Given the description of an element on the screen output the (x, y) to click on. 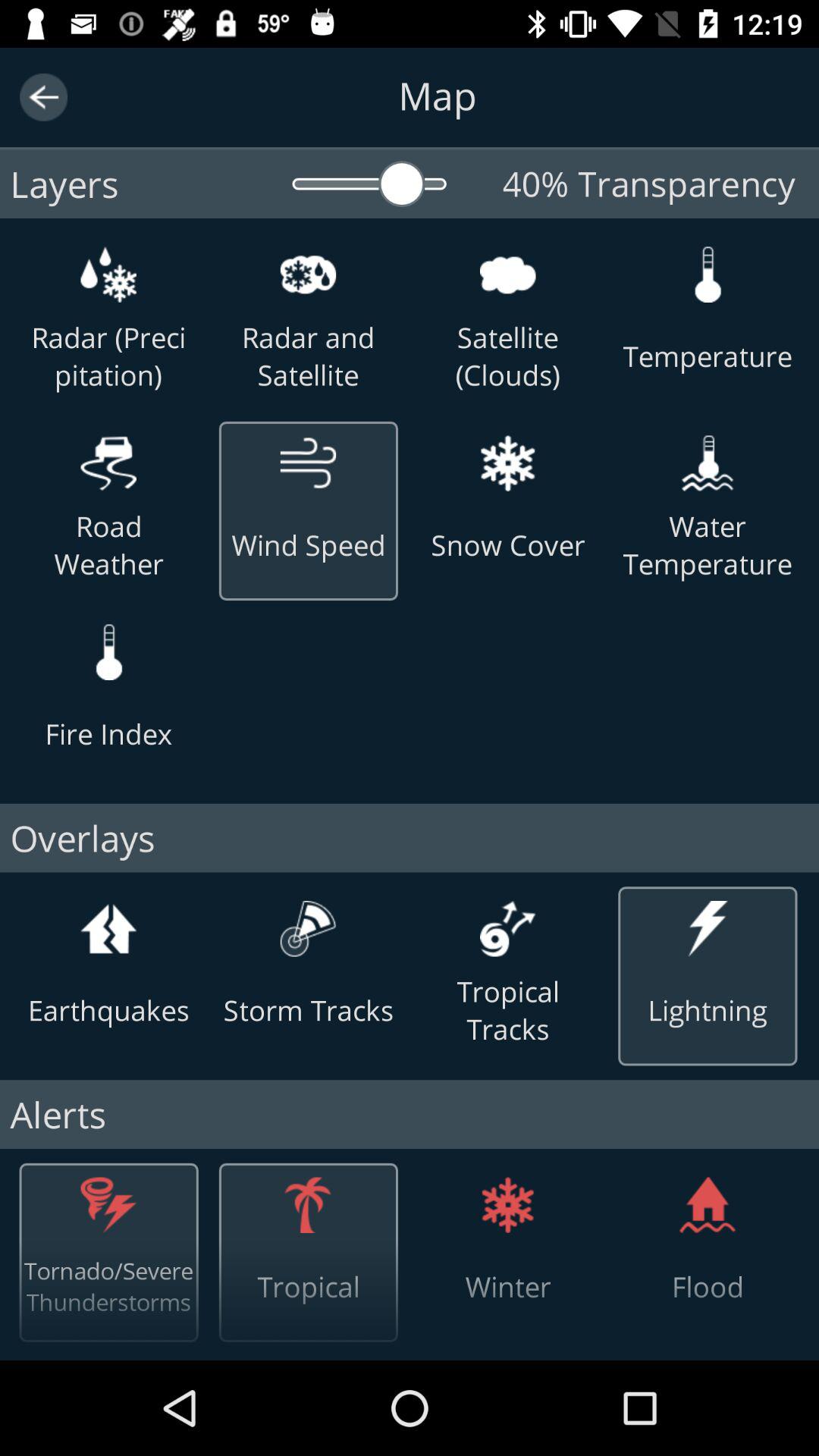
click on the icon above radar and satellite (307, 274)
click on the icon above wind speed (307, 463)
click the icon above tropical tracks (507, 928)
click on the icon above storm tracks (307, 928)
